Given the description of an element on the screen output the (x, y) to click on. 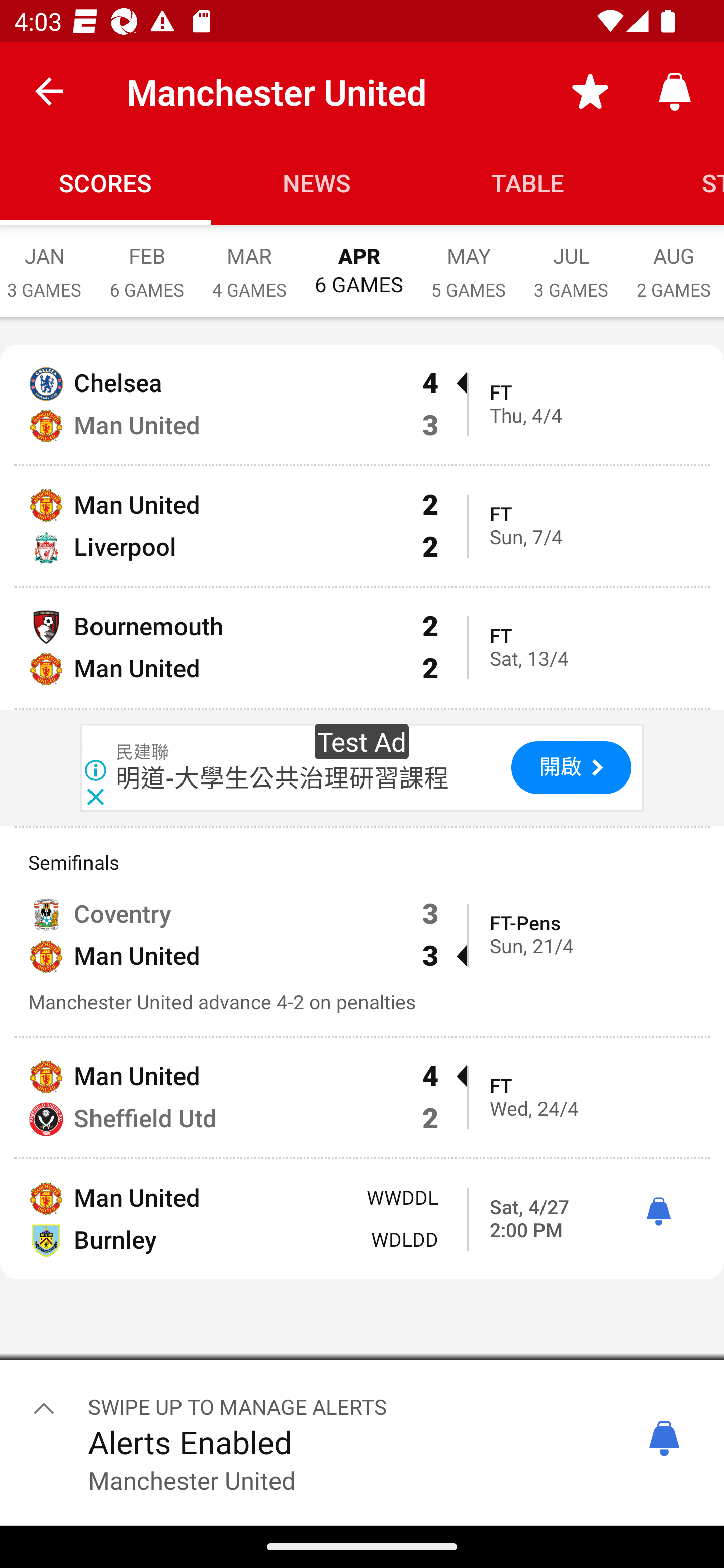
back.button (49, 90)
Favorite toggle (590, 90)
Alerts (674, 90)
News NEWS (316, 183)
Table TABLE (527, 183)
JAN 3 GAMES (47, 262)
FEB 6 GAMES (146, 262)
MAR 4 GAMES (249, 262)
APR 6 GAMES (358, 261)
MAY 5 GAMES (468, 262)
JUL 3 GAMES (570, 262)
AUG 2 GAMES (673, 262)
Chelsea 4  Man United 3 FT Thu, 4/4 (362, 404)
Man United 2 Liverpool 2 FT Sun, 7/4 (362, 525)
Bournemouth 2 Man United 2 FT Sat, 13/4 (362, 647)
民建聯 (142, 752)
開啟 (570, 767)
明道-大學生公共治理研習課程 (282, 777)
Man United 4  Sheffield Utd 2 FT Wed, 24/4 (362, 1097)
Man United WWDDL Burnley WDLDD Sat, 4/27 2:00 PM ì (362, 1218)
ì (658, 1211)
 (44, 1407)
